Given the description of an element on the screen output the (x, y) to click on. 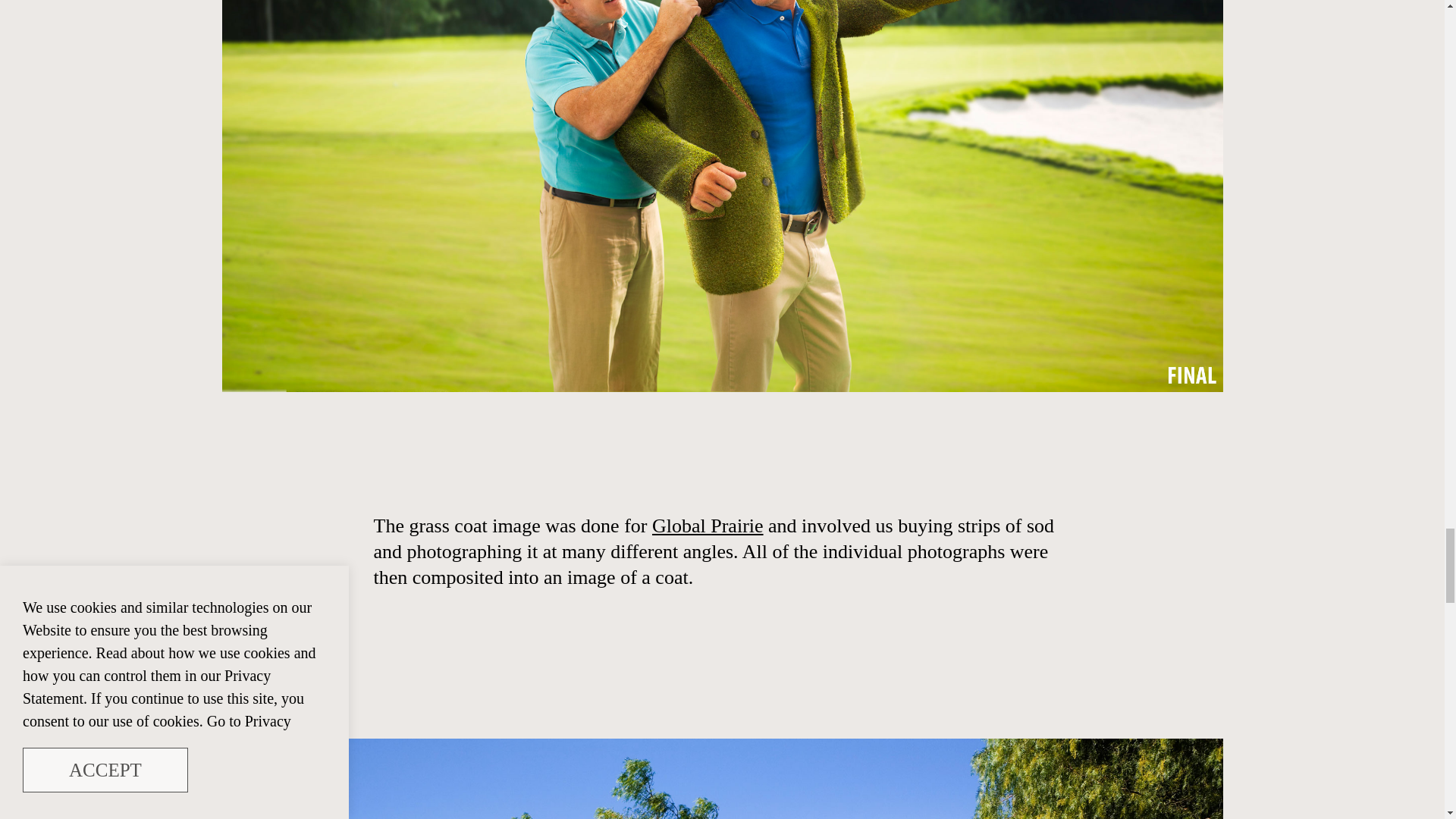
Global Prairie (707, 526)
